Given the description of an element on the screen output the (x, y) to click on. 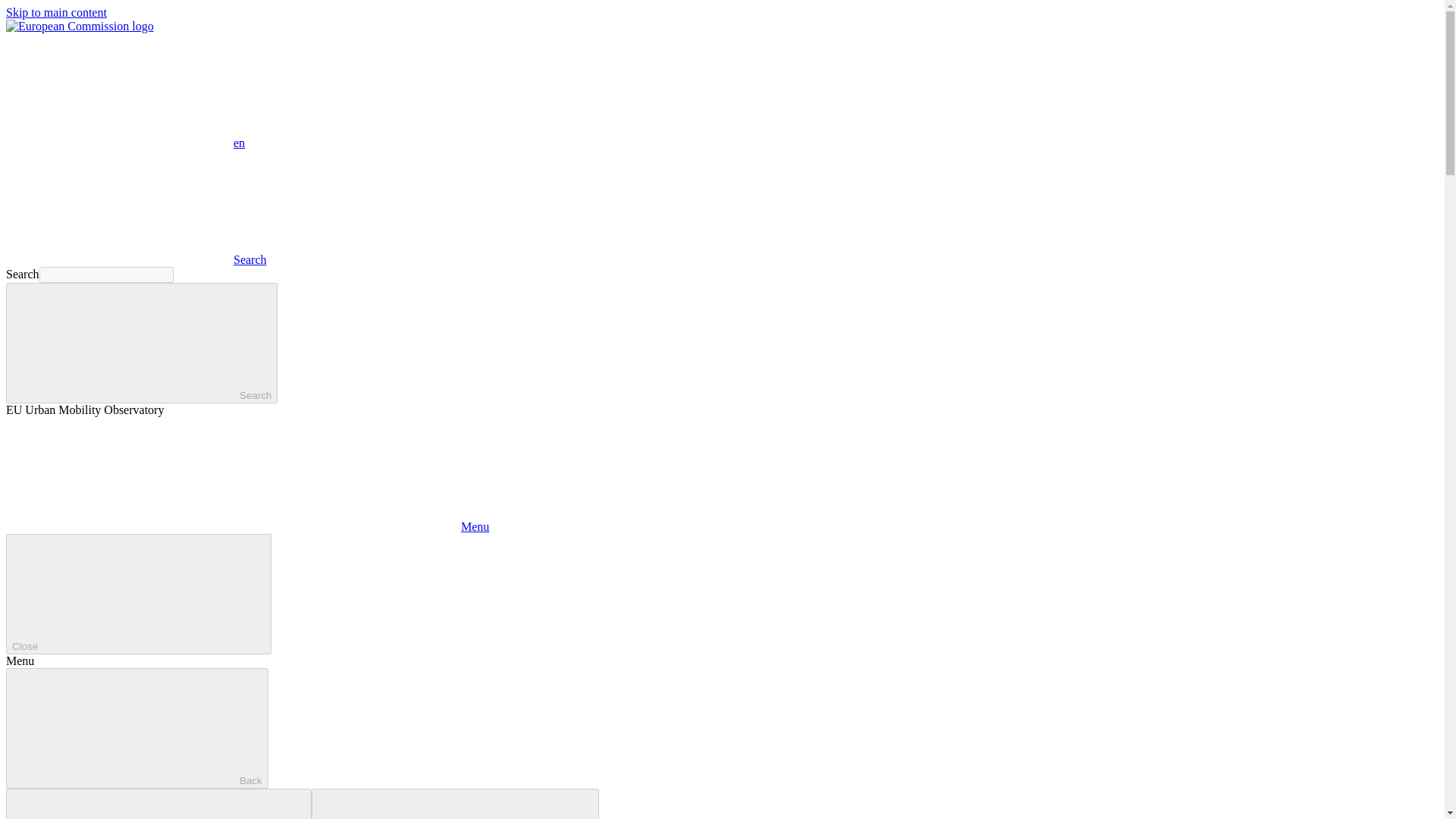
en (118, 90)
Search (135, 259)
Back (136, 728)
Next items (454, 803)
Search (141, 342)
Skip to main content (55, 11)
Menu (247, 526)
Previous items (158, 803)
European Commission (79, 25)
Close (137, 593)
